Given the description of an element on the screen output the (x, y) to click on. 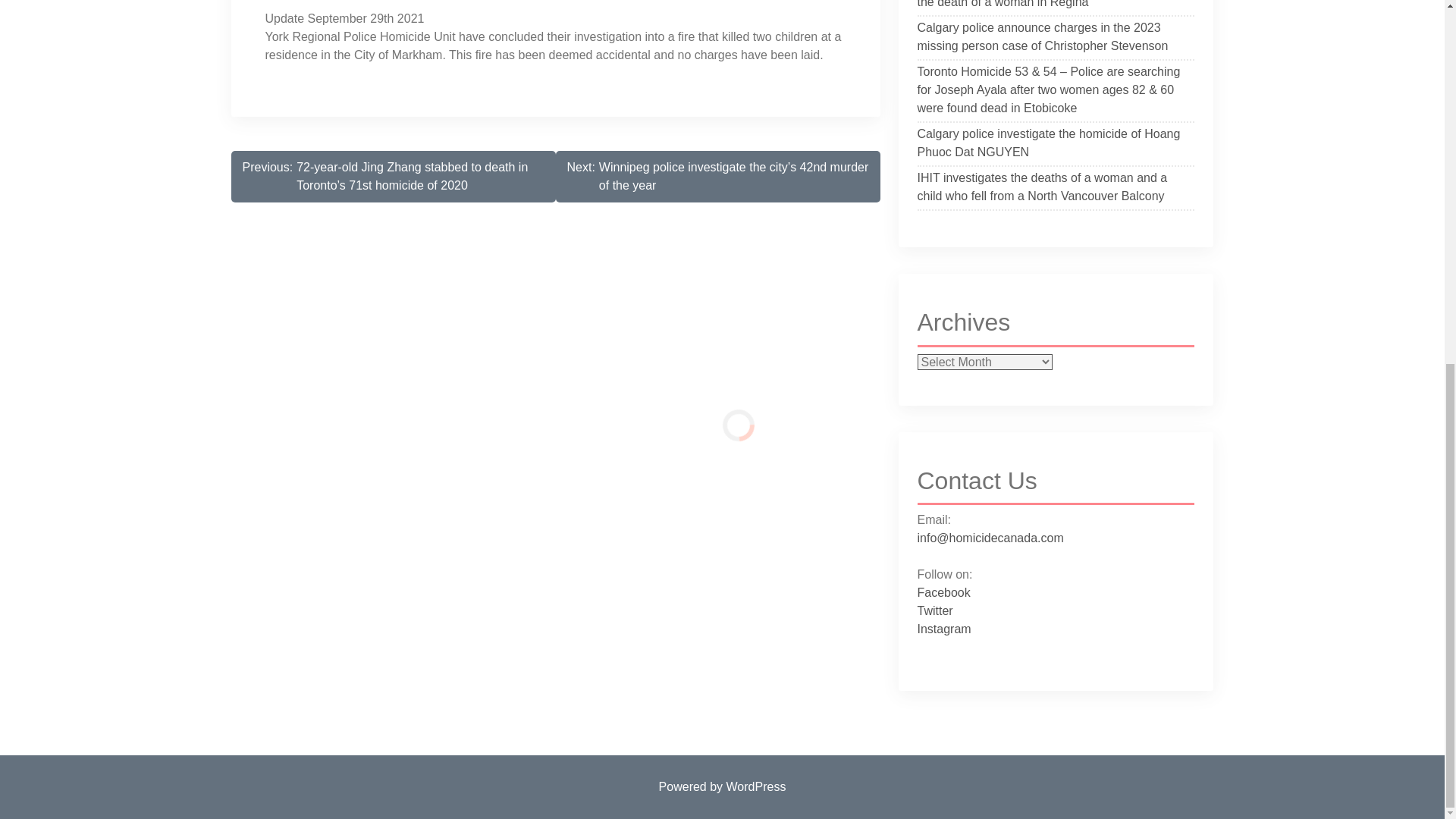
Powered by WordPress (722, 786)
Twitter (935, 610)
Instagram (944, 628)
Facebook (944, 592)
